Given the description of an element on the screen output the (x, y) to click on. 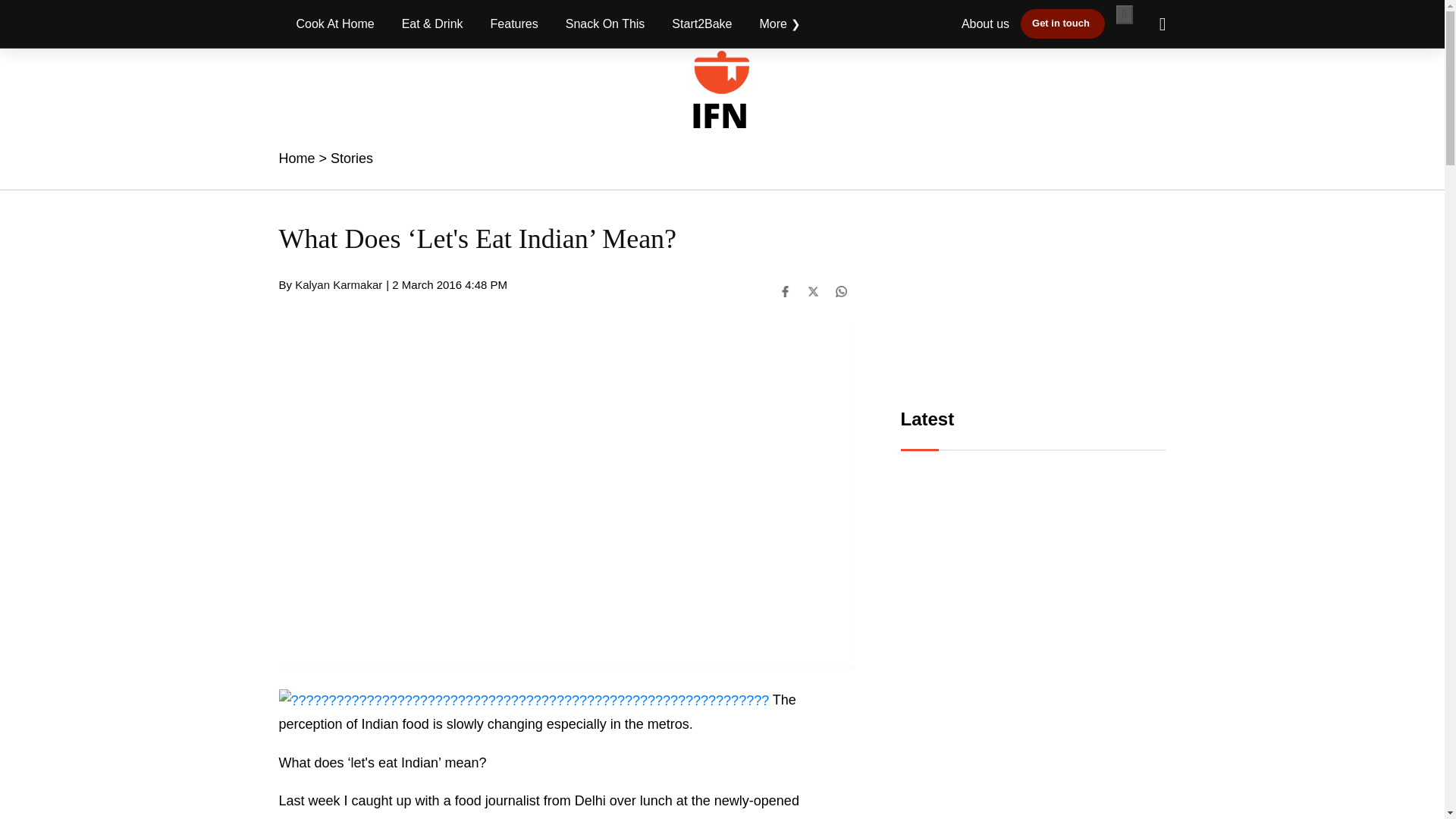
Twitter Share (812, 291)
Snack On This (605, 23)
More (779, 23)
Cook At Home (335, 23)
FB Share (784, 291)
Search (1155, 24)
Get in touch (1062, 23)
Whatsapp Share (841, 291)
Features (514, 23)
Start2Bake (701, 23)
About us (984, 23)
